Given the description of an element on the screen output the (x, y) to click on. 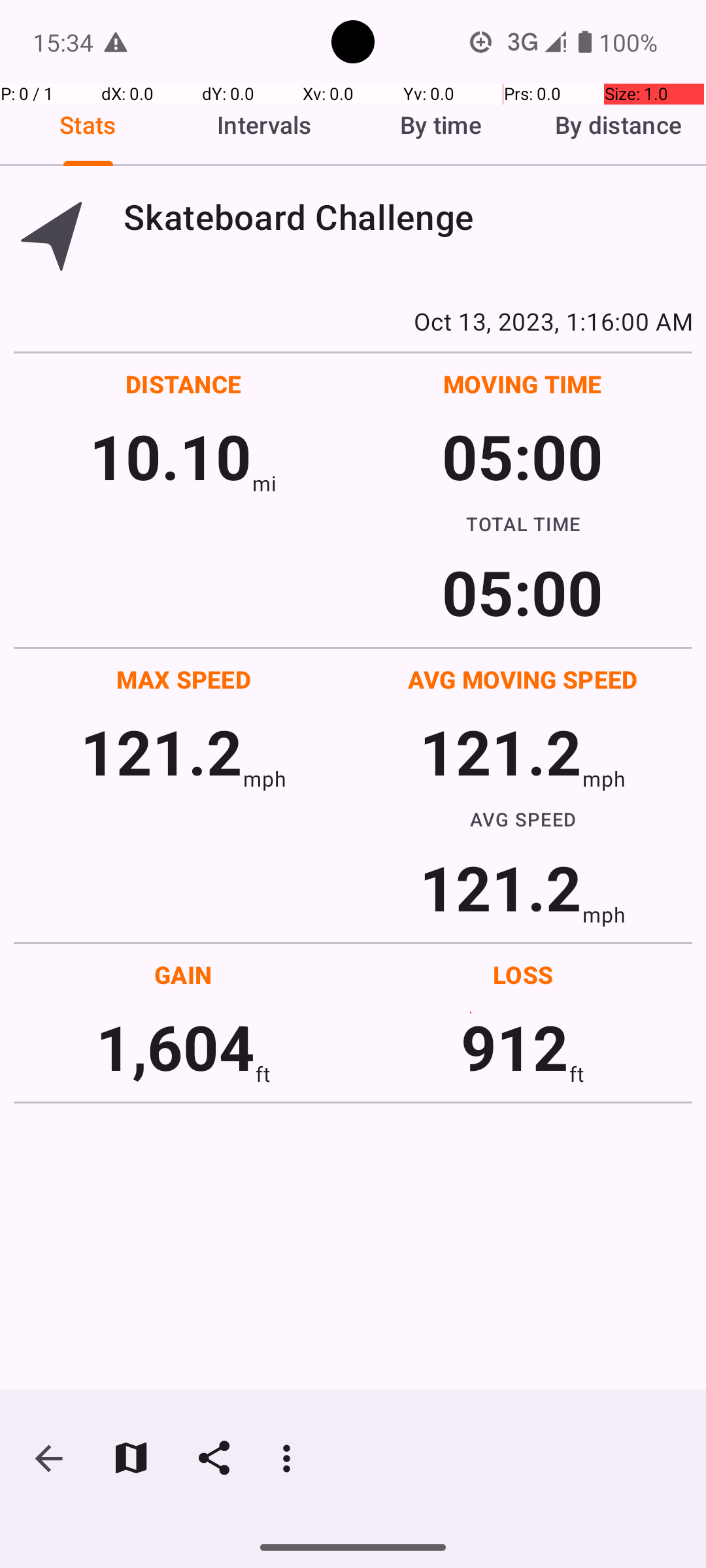
Skateboard Challenge Element type: android.widget.TextView (407, 216)
Oct 13, 2023, 1:16:00 AM Element type: android.widget.TextView (352, 320)
10.10 Element type: android.widget.TextView (170, 455)
05:00 Element type: android.widget.TextView (522, 455)
121.2 Element type: android.widget.TextView (161, 750)
1,604 Element type: android.widget.TextView (175, 1045)
912 Element type: android.widget.TextView (514, 1045)
